Given the description of an element on the screen output the (x, y) to click on. 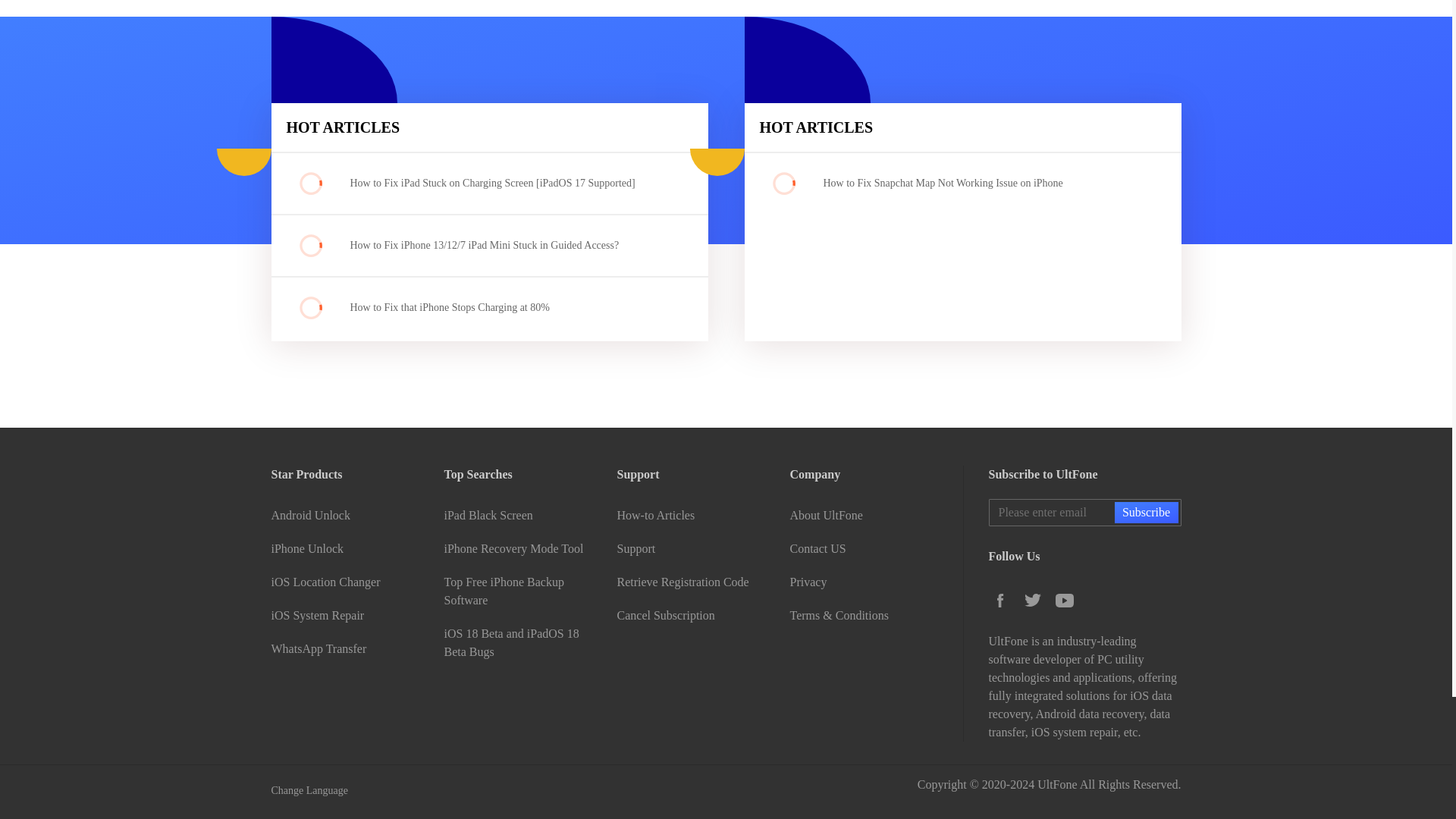
How to Fix Snapchat Map Not Working Issue on iPhone (971, 182)
